Given the description of an element on the screen output the (x, y) to click on. 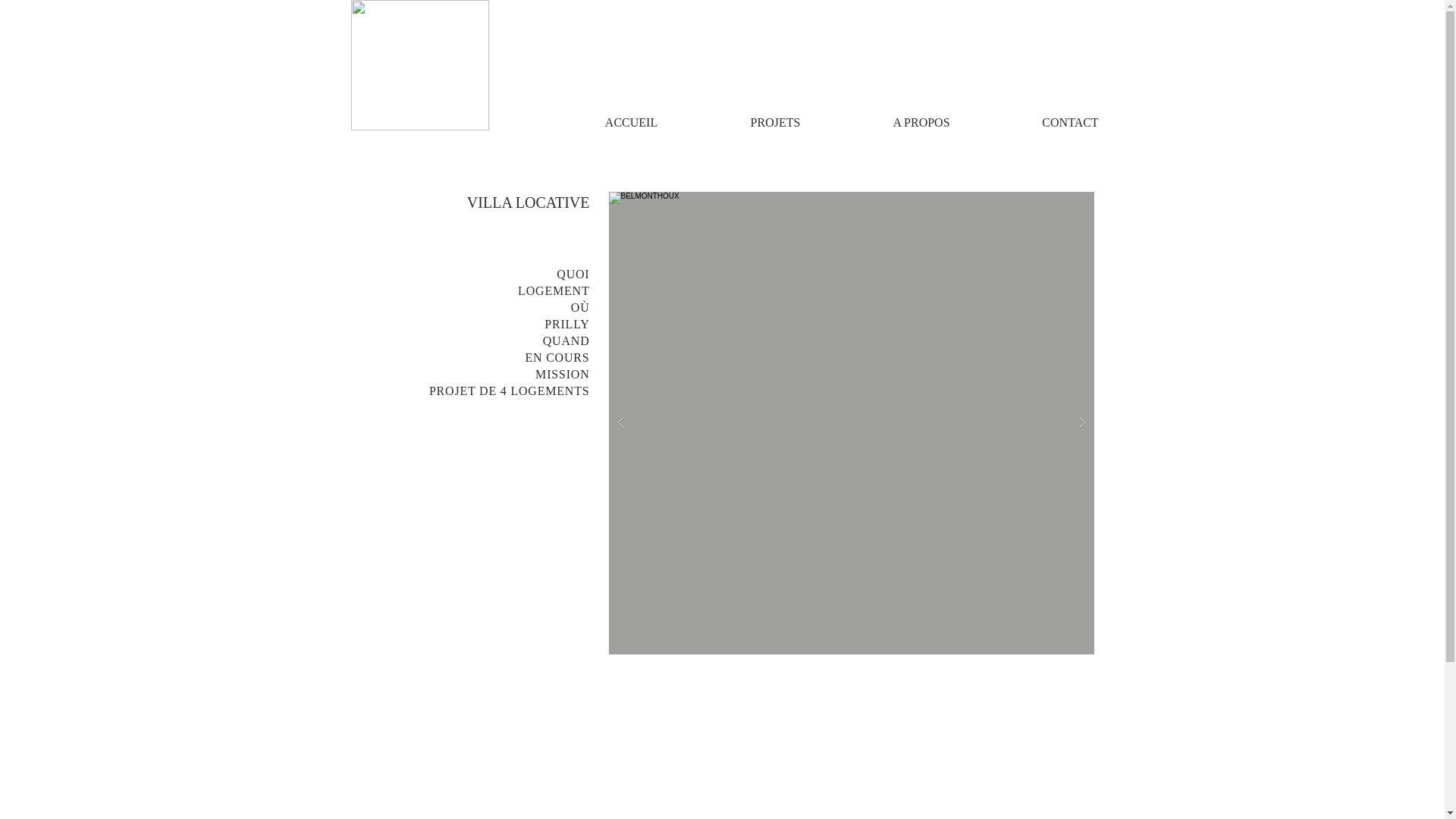
PROJETS Element type: text (774, 121)
ACCUEIL Element type: text (630, 121)
A PROPOS Element type: text (920, 121)
CONTACT Element type: text (1070, 121)
